Given the description of an element on the screen output the (x, y) to click on. 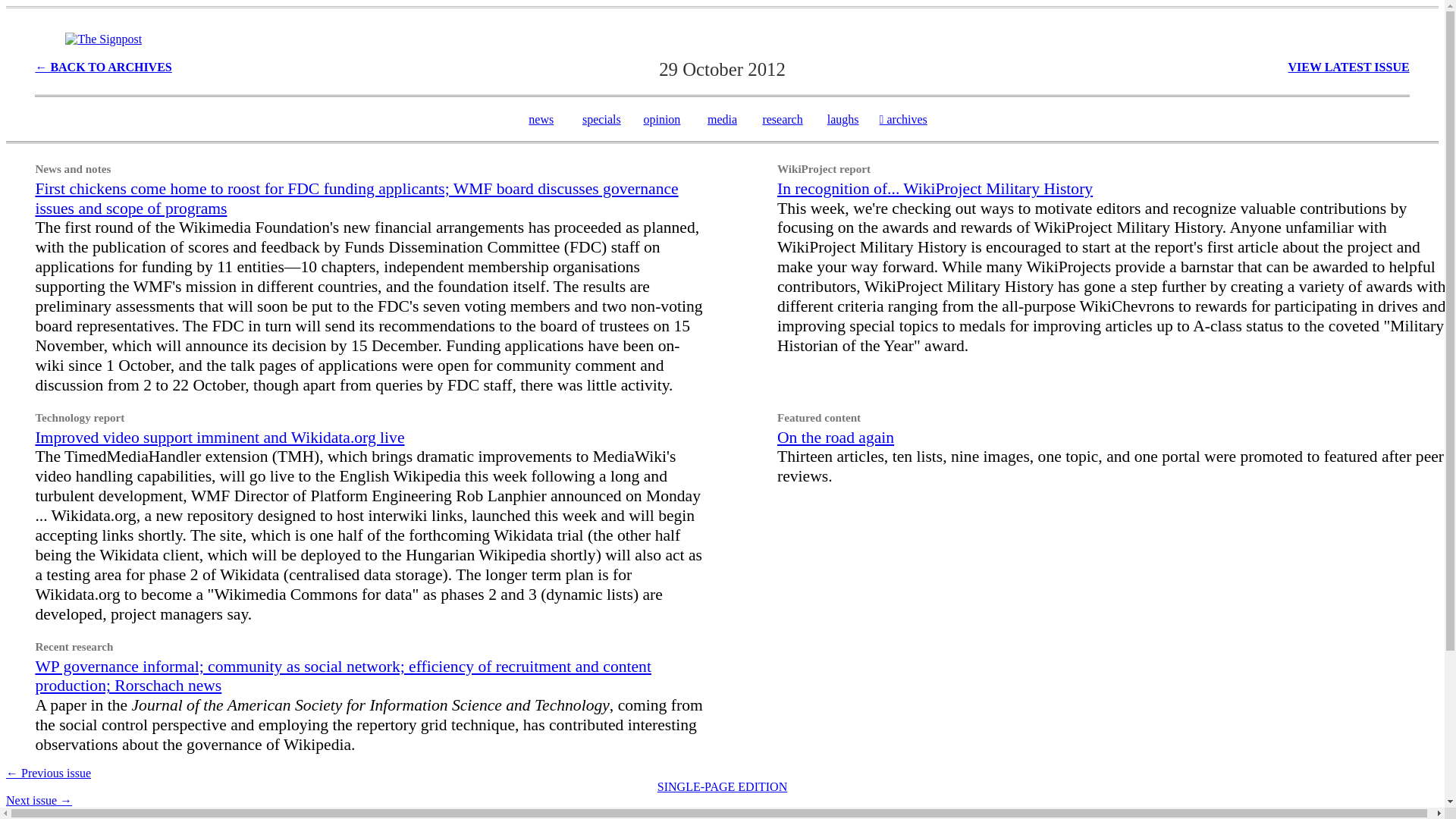
media (721, 119)
SINGLE-PAGE EDITION (722, 786)
opinion (661, 119)
specials (601, 119)
laughs (843, 119)
Improved video support imminent and Wikidata.org live (219, 437)
VIEW LATEST ISSUE (1348, 66)
news (540, 119)
Wikipedia:Wikipedia Signpost (103, 38)
